Given the description of an element on the screen output the (x, y) to click on. 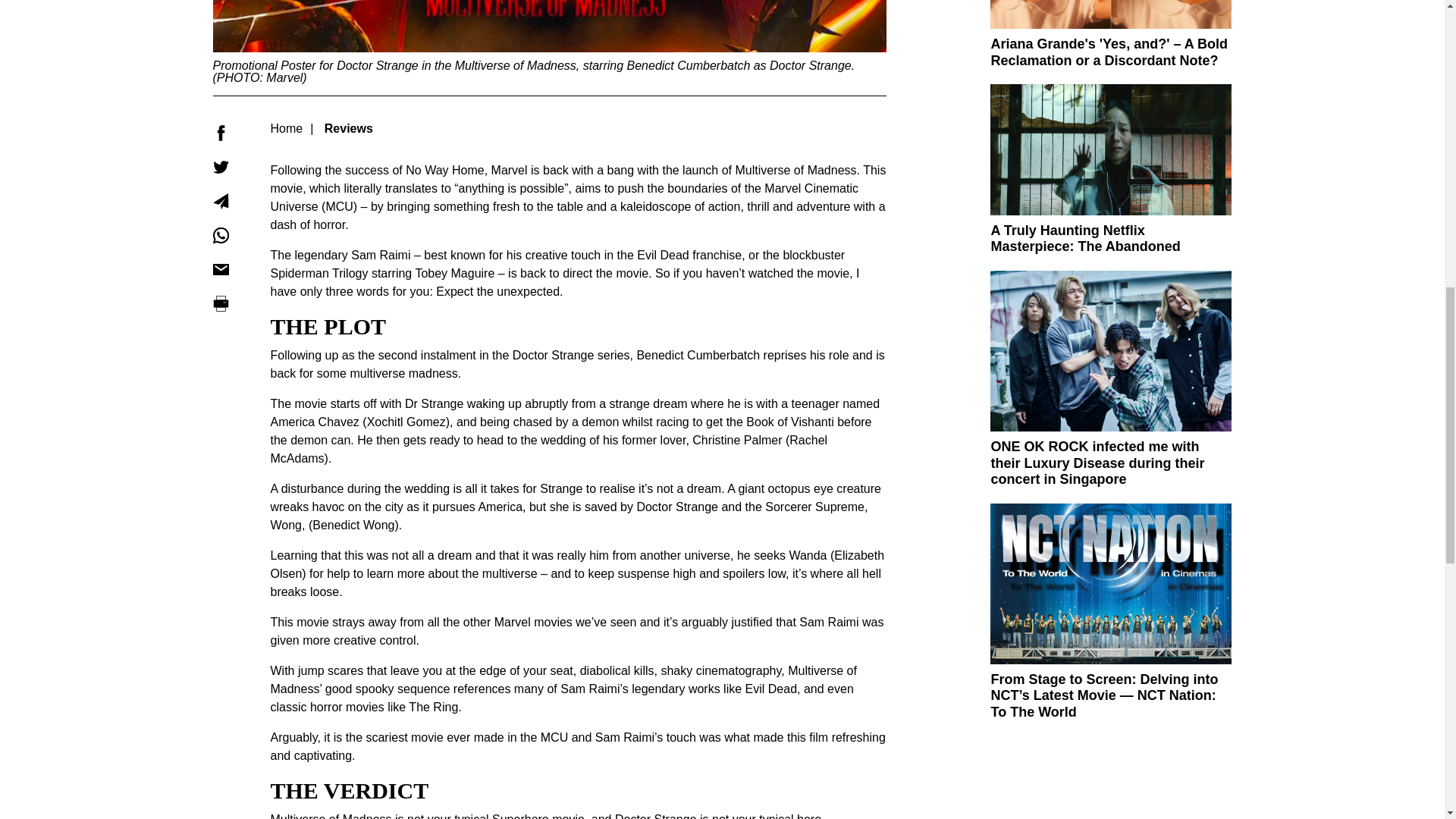
Home (285, 128)
Reviews (348, 128)
A Truly Haunting Netflix Masterpiece: The Abandoned (1084, 238)
